Given the description of an element on the screen output the (x, y) to click on. 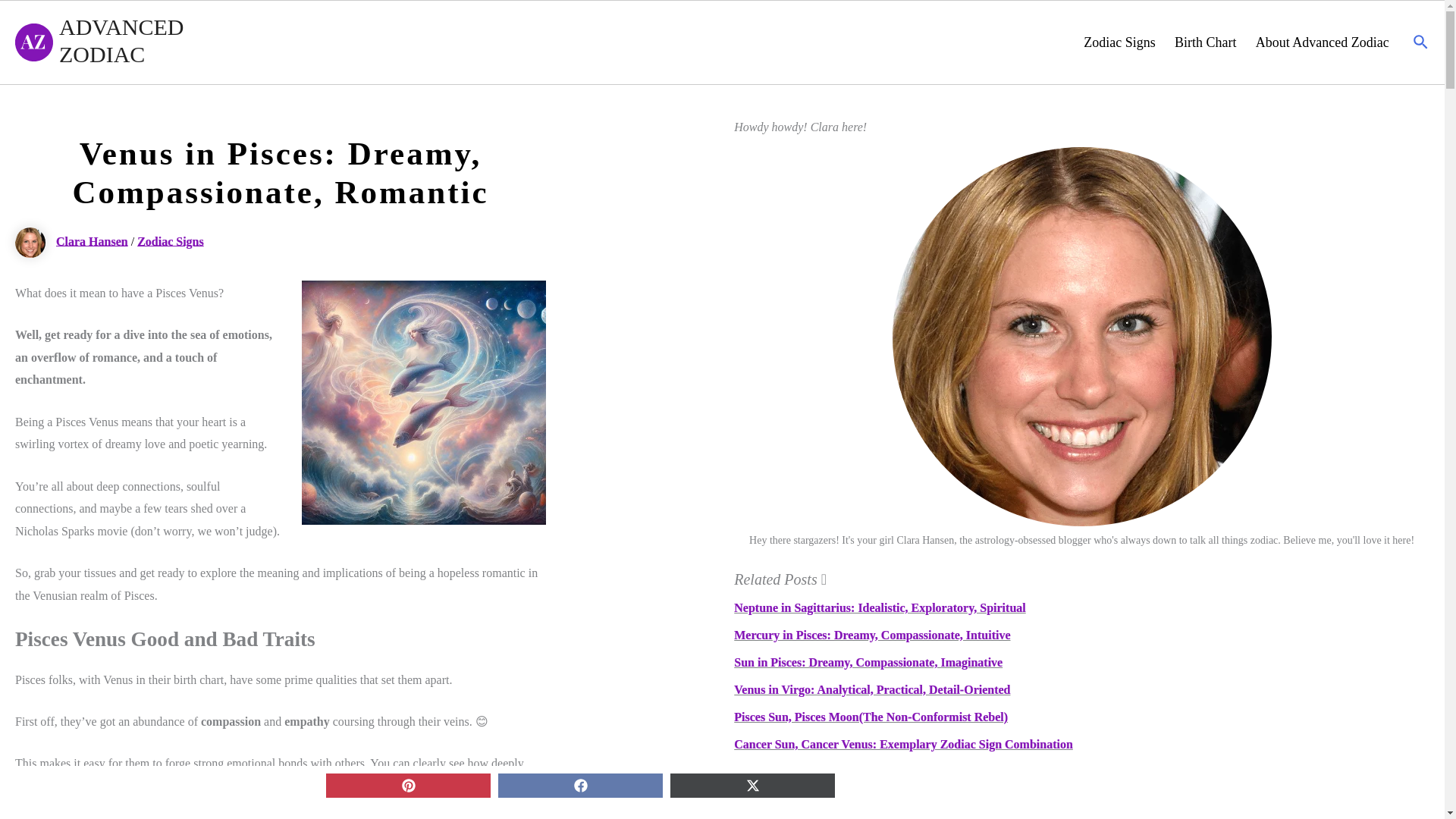
ADVANCED ZODIAC (124, 40)
Zodiac Signs (1120, 42)
About Advanced Zodiac (1321, 42)
Zodiac Signs (169, 240)
Share on Pinterest (408, 785)
View all posts by Clara Hansen (72, 240)
Clara Hansen (72, 240)
Share on Facebook (579, 785)
Birth Chart (1205, 42)
